Given the description of an element on the screen output the (x, y) to click on. 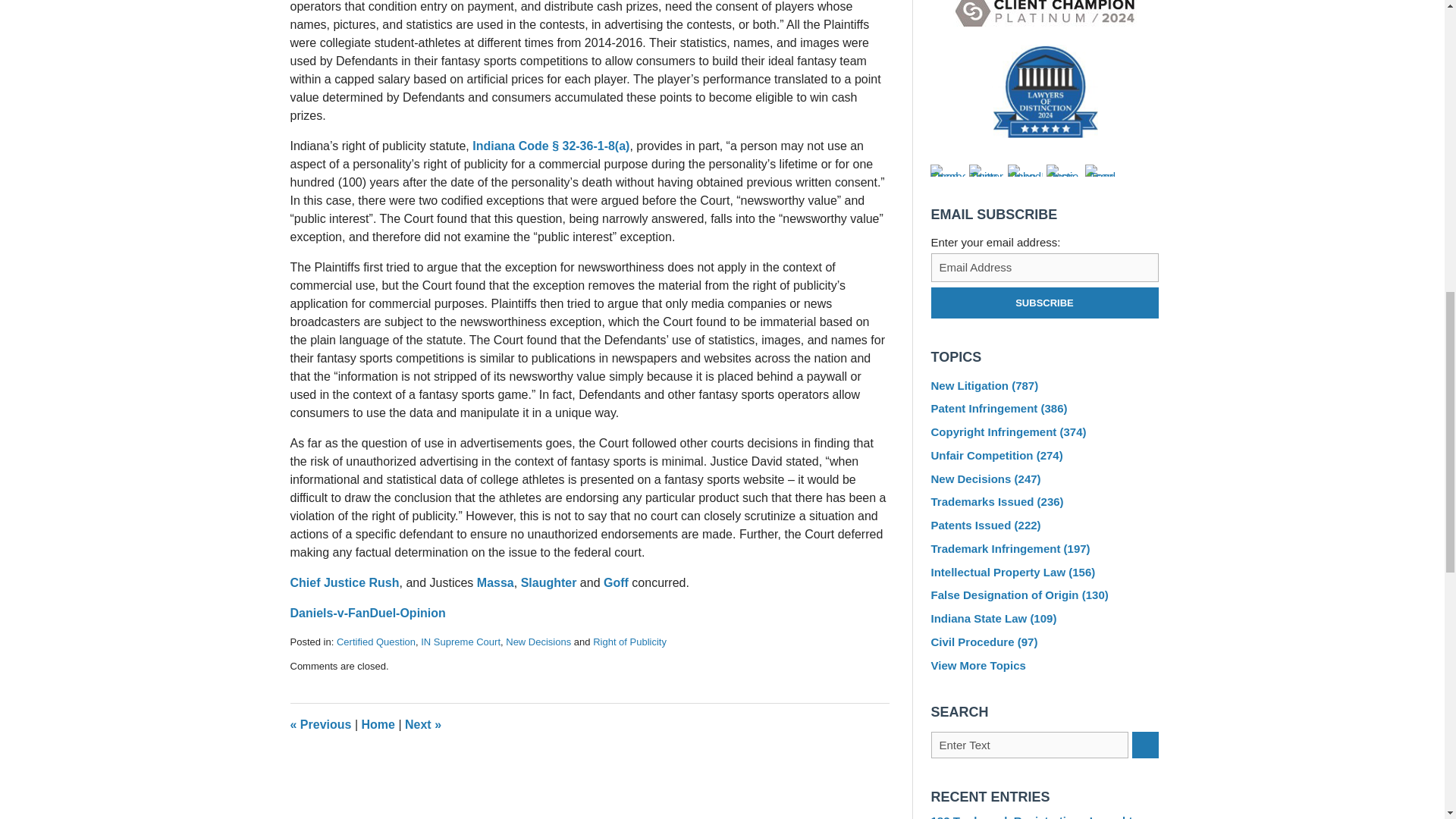
Certified Question (375, 641)
Justia (1064, 170)
Right of Publicity (629, 641)
LinkedIn (1024, 170)
Goff (616, 582)
Home (377, 724)
IN Supreme Court (460, 641)
Twitter (987, 170)
Daniels-v-FanDuel-Opinion (367, 612)
Massa (495, 582)
